Given the description of an element on the screen output the (x, y) to click on. 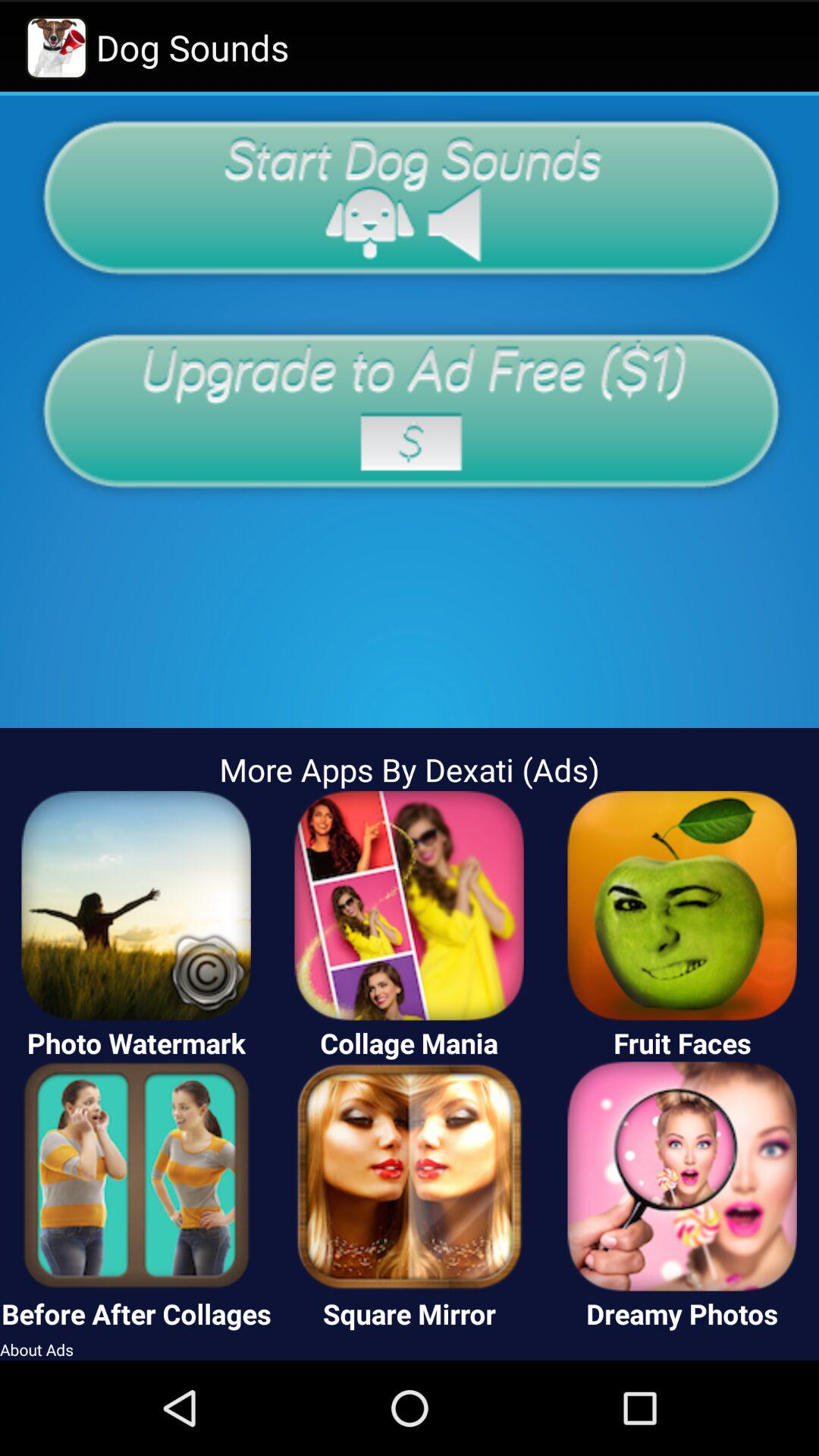
upgrade to advertisement free (409, 409)
